Given the description of an element on the screen output the (x, y) to click on. 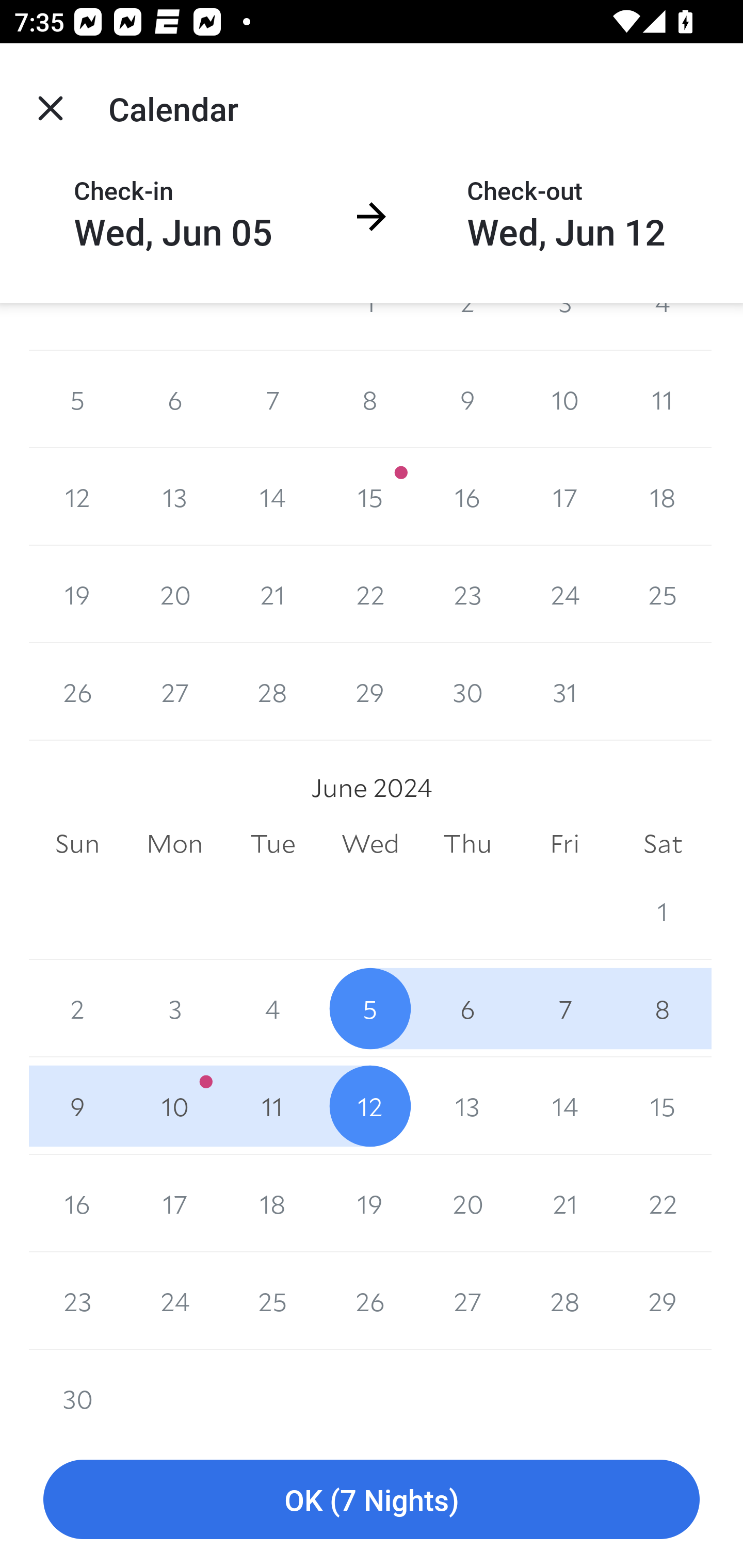
5 5 May 2024 (77, 399)
6 6 May 2024 (174, 399)
7 7 May 2024 (272, 399)
8 8 May 2024 (370, 399)
9 9 May 2024 (467, 399)
10 10 May 2024 (564, 399)
11 11 May 2024 (662, 399)
12 12 May 2024 (77, 496)
13 13 May 2024 (174, 496)
14 14 May 2024 (272, 496)
15 15 May 2024 (370, 496)
16 16 May 2024 (467, 496)
17 17 May 2024 (564, 496)
18 18 May 2024 (662, 496)
19 19 May 2024 (77, 593)
20 20 May 2024 (174, 593)
21 21 May 2024 (272, 593)
22 22 May 2024 (370, 593)
23 23 May 2024 (467, 593)
24 24 May 2024 (564, 593)
25 25 May 2024 (662, 593)
26 26 May 2024 (77, 691)
27 27 May 2024 (174, 691)
28 28 May 2024 (272, 691)
29 29 May 2024 (370, 691)
30 30 May 2024 (467, 691)
31 31 May 2024 (564, 691)
Sun (77, 843)
Mon (174, 843)
Tue (272, 843)
Wed (370, 843)
Thu (467, 843)
Fri (564, 843)
Sat (662, 843)
1 1 June 2024 (662, 910)
2 2 June 2024 (77, 1007)
3 3 June 2024 (174, 1007)
4 4 June 2024 (272, 1007)
5 5 June 2024 (370, 1007)
6 6 June 2024 (467, 1007)
7 7 June 2024 (564, 1007)
8 8 June 2024 (662, 1007)
9 9 June 2024 (77, 1105)
10 10 June 2024 (174, 1105)
11 11 June 2024 (272, 1105)
12 12 June 2024 (370, 1105)
13 13 June 2024 (467, 1105)
14 14 June 2024 (564, 1105)
15 15 June 2024 (662, 1105)
